Given the description of an element on the screen output the (x, y) to click on. 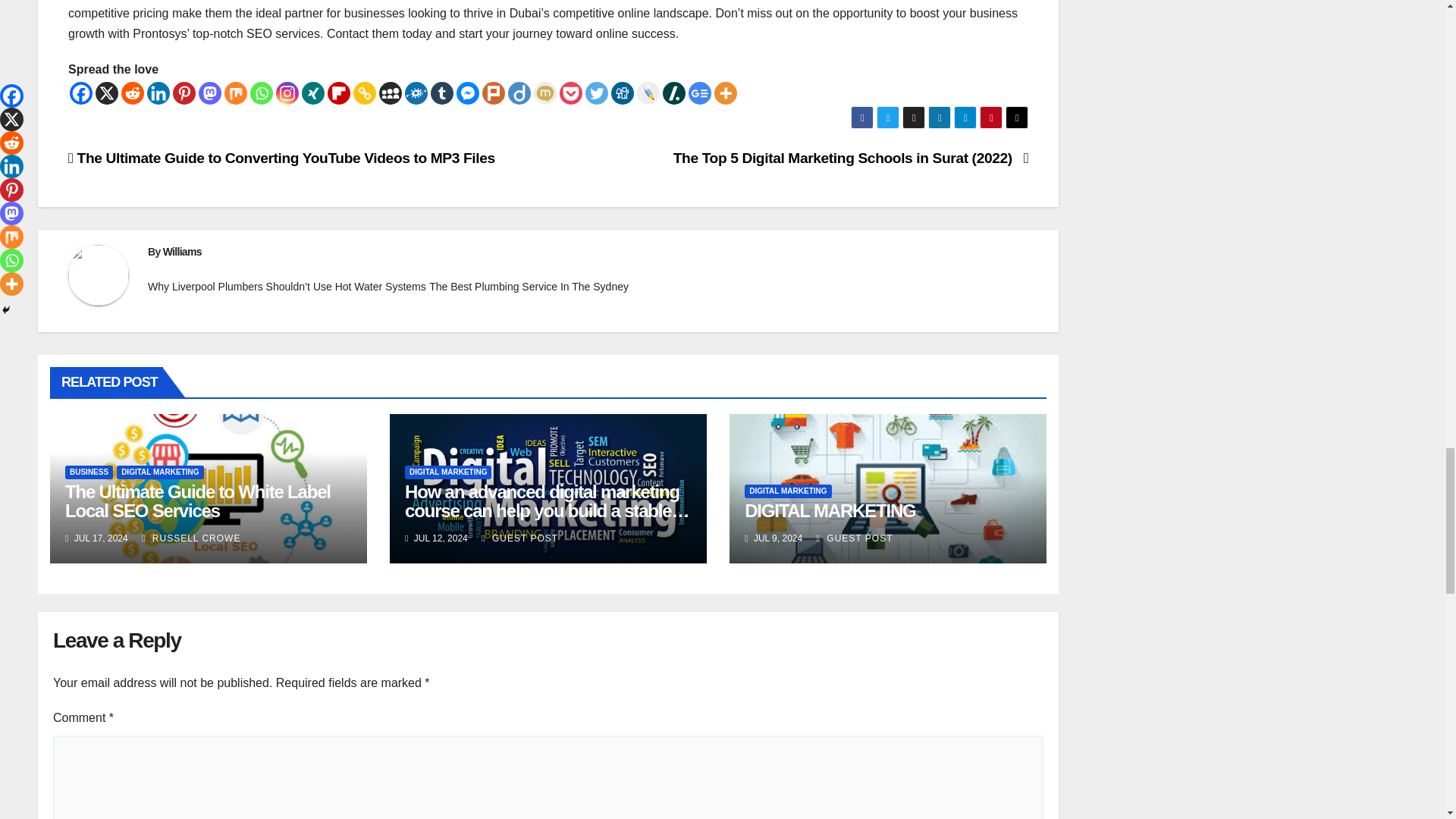
Reddit (132, 92)
X (106, 92)
Mix (235, 92)
xing (312, 92)
Mastodon (209, 92)
Instagram (287, 92)
Facebook (81, 92)
Pinterest (184, 92)
Linkedin (158, 92)
Whatsapp (261, 92)
